Given the description of an element on the screen output the (x, y) to click on. 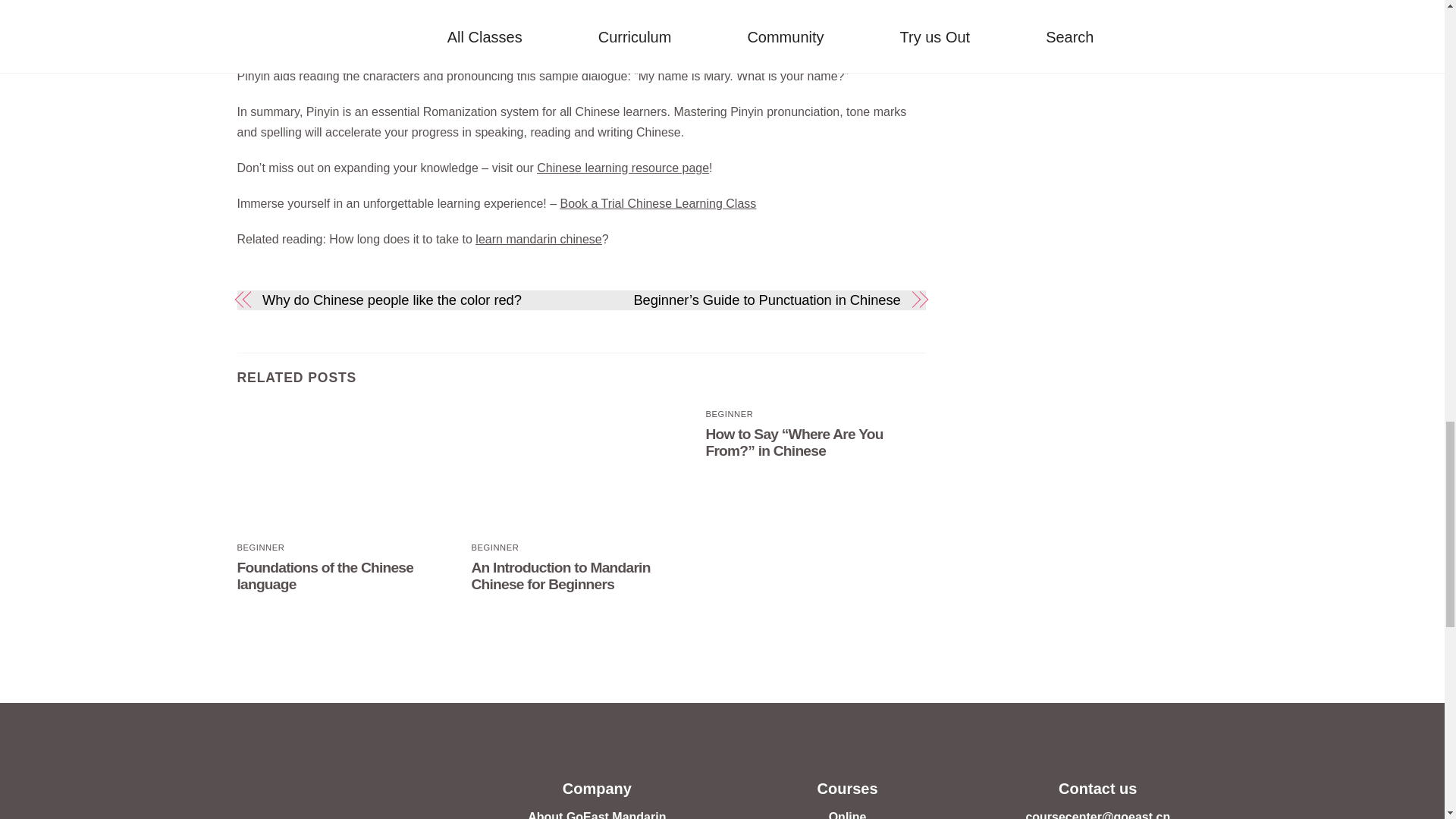
Foundations of the Chinese language (346, 469)
An Introduction to Mandarin Chinese for Beginners (580, 469)
